Given the description of an element on the screen output the (x, y) to click on. 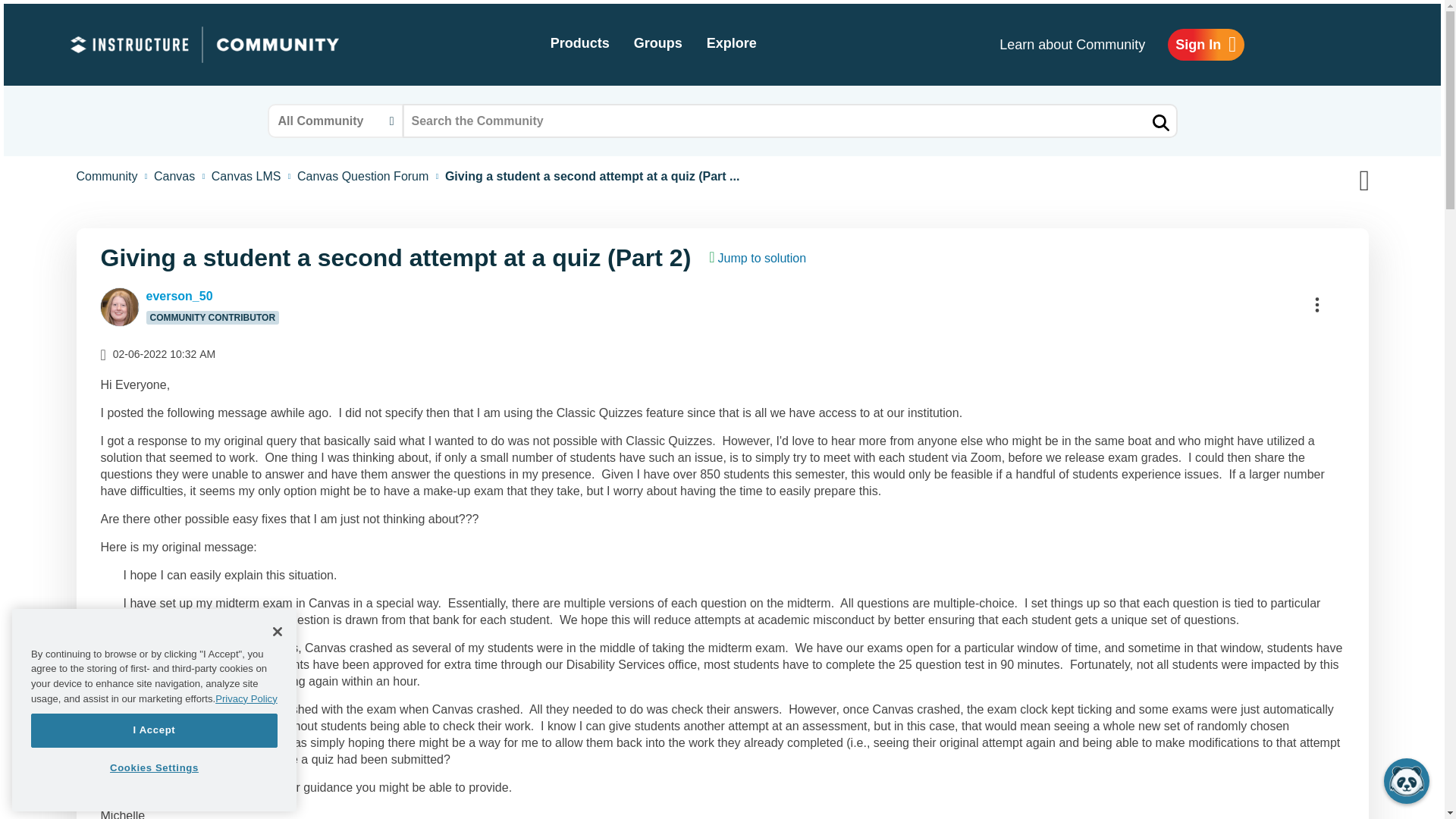
Search Granularity (334, 121)
Products (579, 44)
Posted on (237, 353)
Show option menu (1317, 304)
Search (788, 121)
Groups (657, 44)
